Given the description of an element on the screen output the (x, y) to click on. 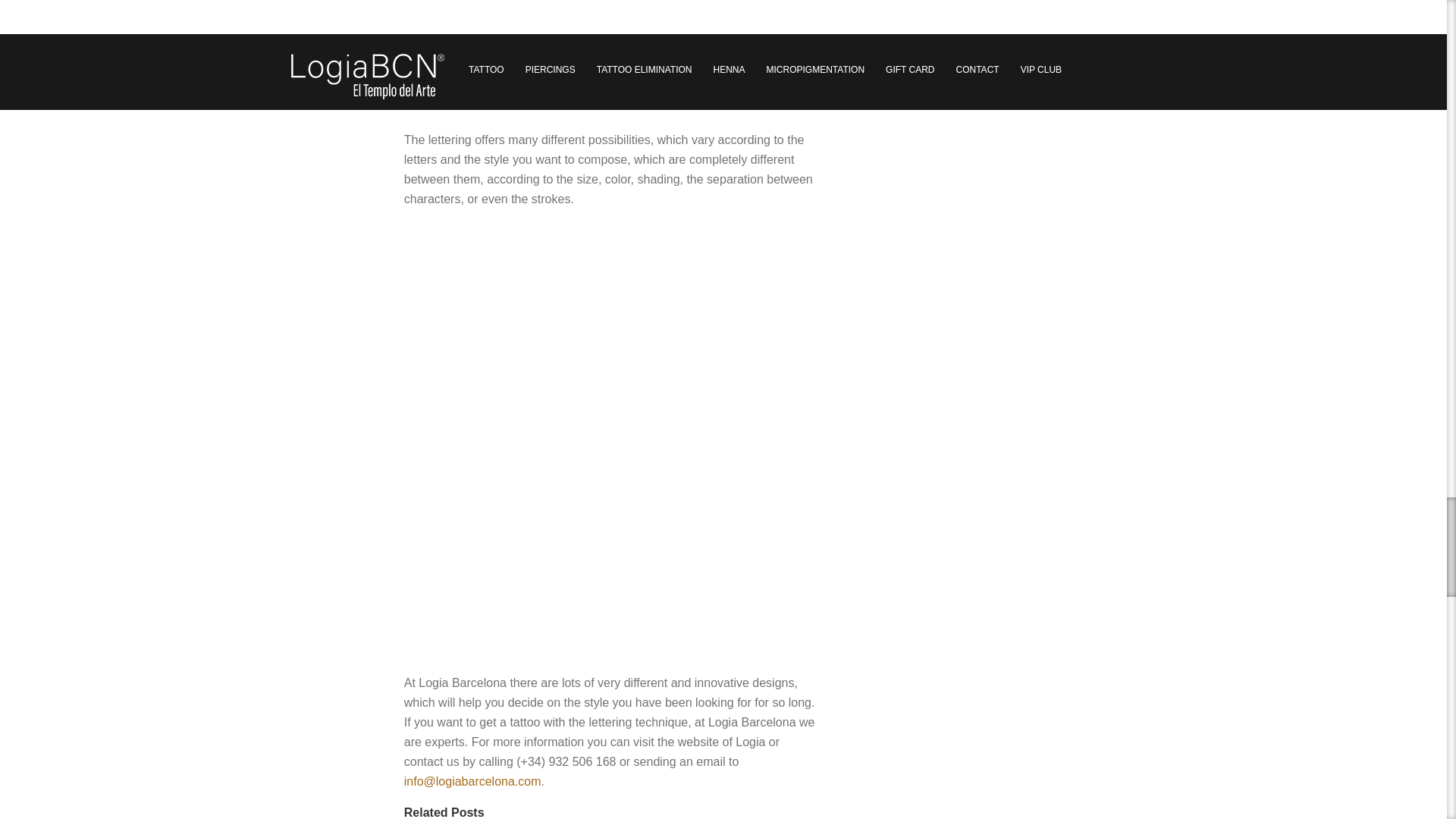
tattoo lettering (612, 49)
